Given the description of an element on the screen output the (x, y) to click on. 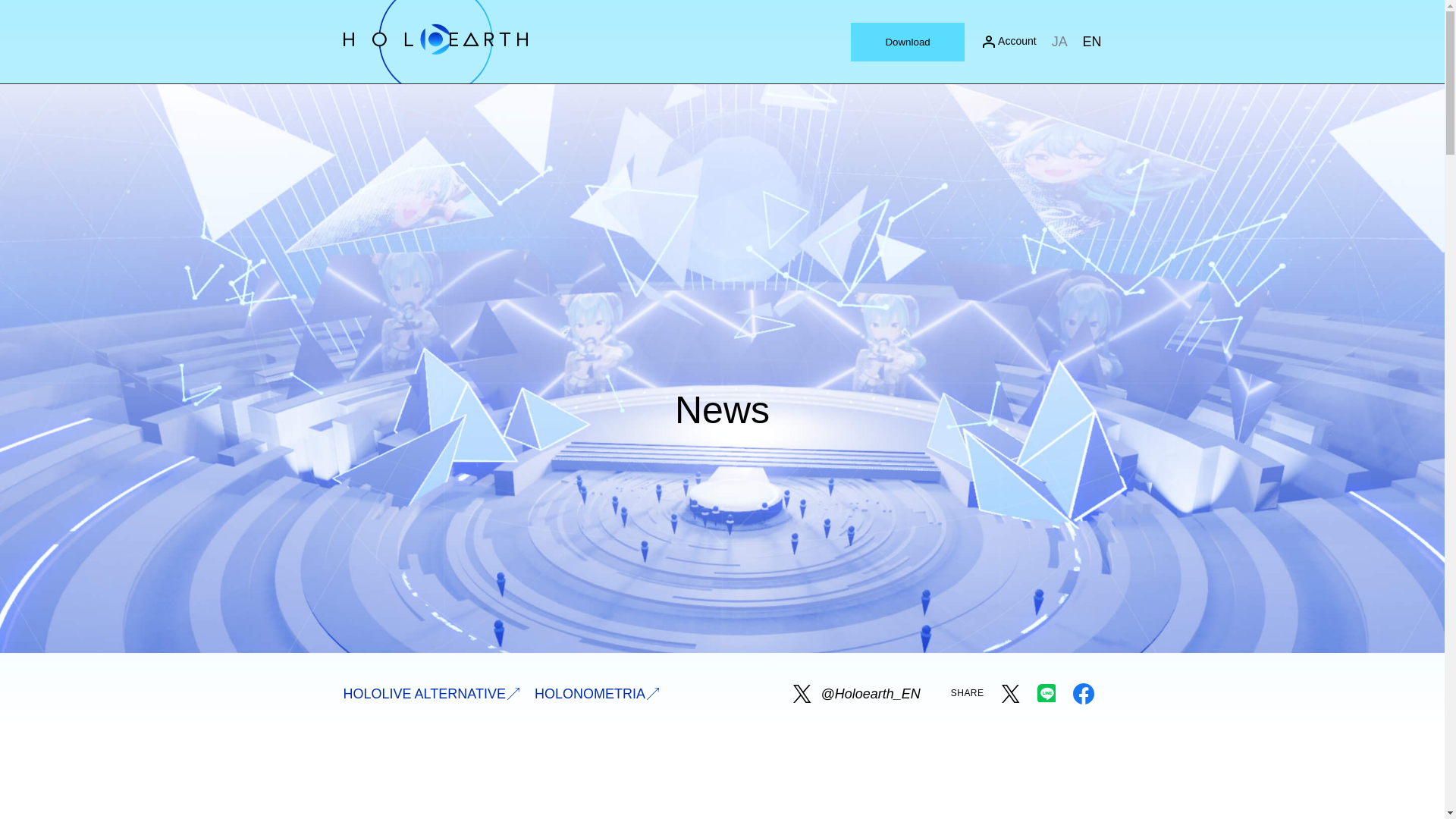
X (1009, 705)
Download (907, 40)
JA (1059, 41)
EN (1090, 41)
LINE (1045, 693)
Facebook (1082, 705)
Account (1007, 40)
X (1009, 693)
HOLOLIVE ALTERNATIVE (430, 693)
Download (906, 41)
